Given the description of an element on the screen output the (x, y) to click on. 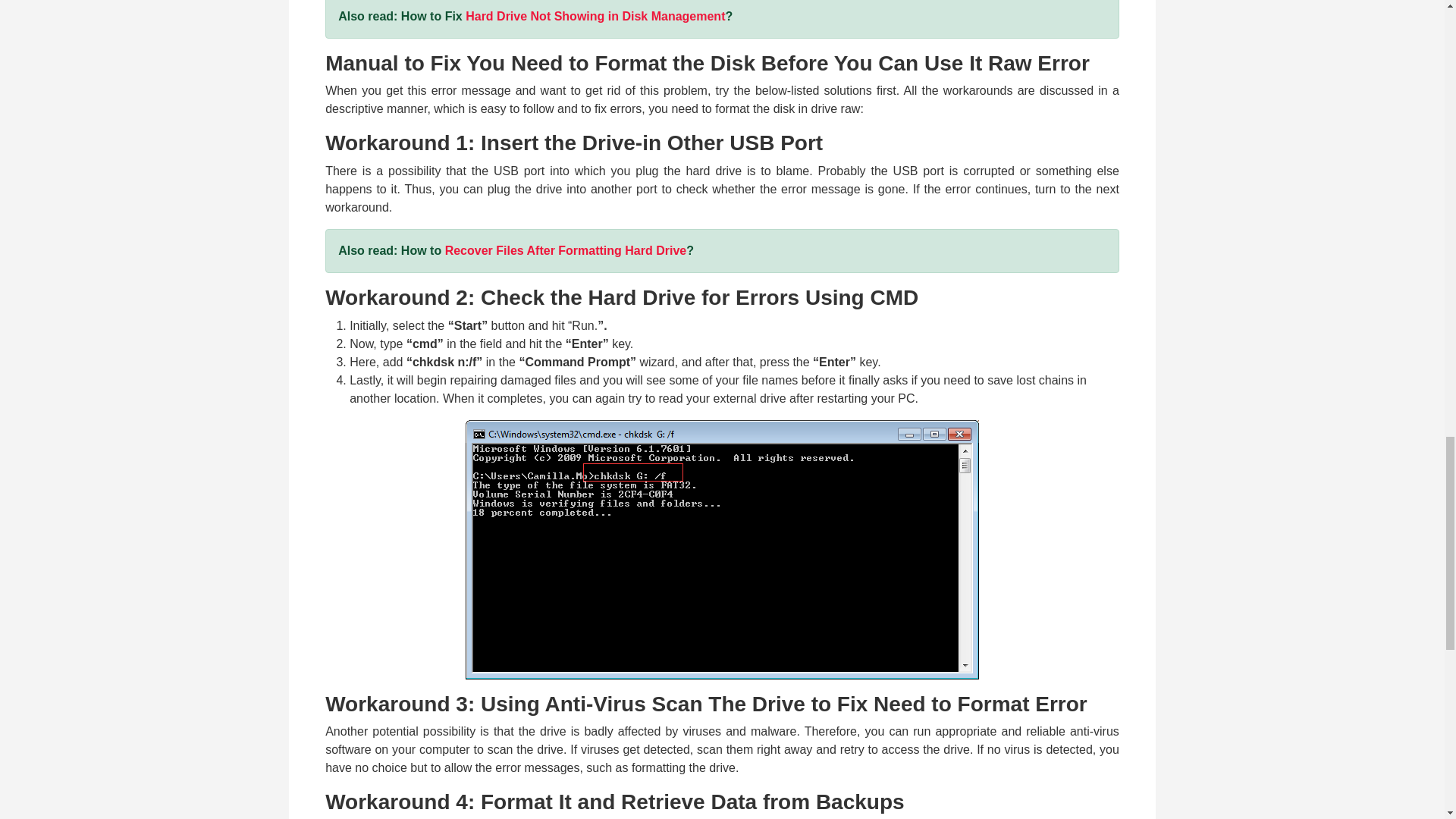
Hard Drive Not Showing in Disk Management (595, 15)
Recover Files After Formatting Hard Drive (566, 250)
